Given the description of an element on the screen output the (x, y) to click on. 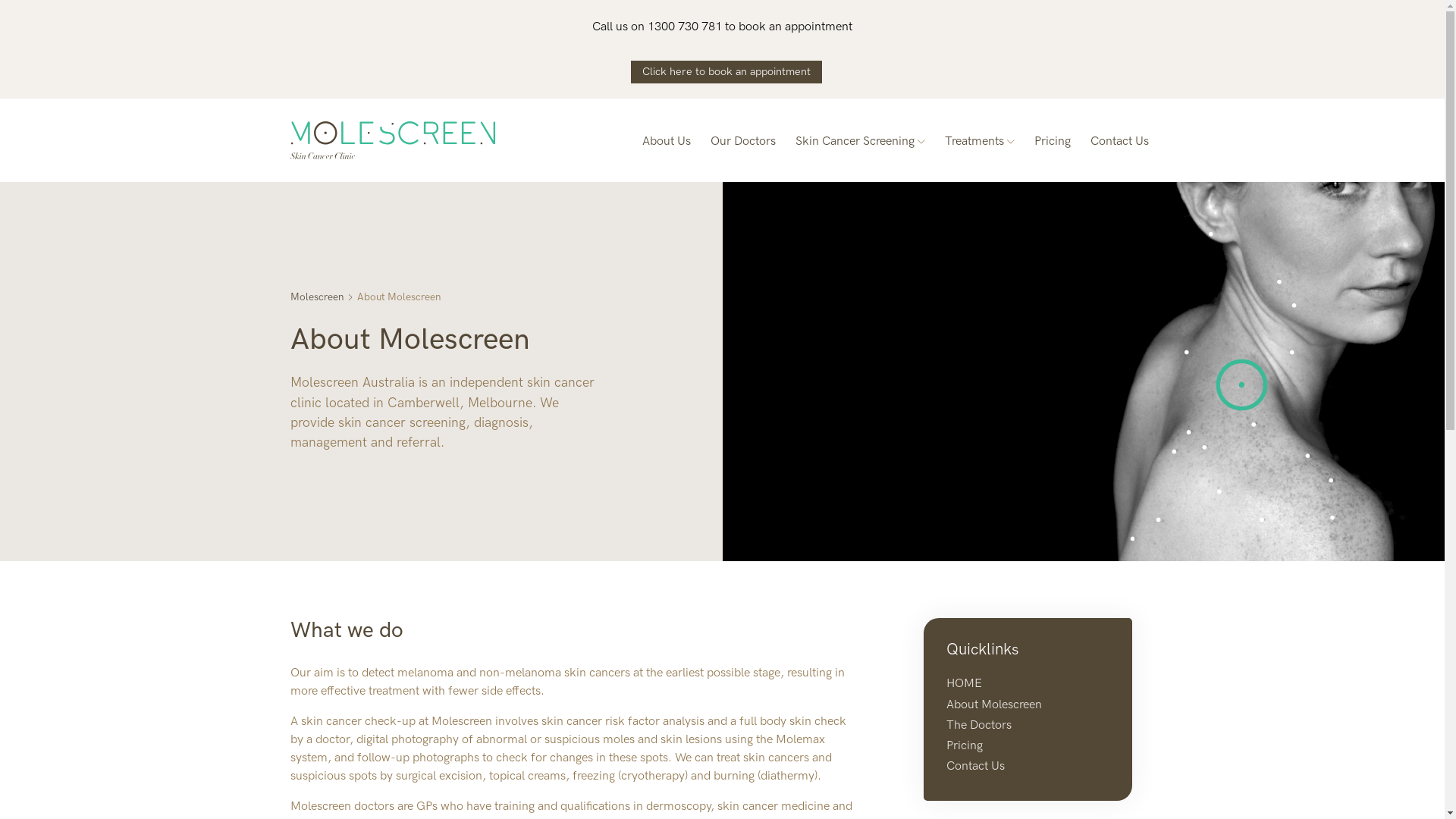
The Doctors Element type: text (978, 725)
Contact Us Element type: text (975, 766)
Molescreen Element type: text (322, 297)
Our Doctors Element type: text (742, 140)
About Us Element type: text (665, 140)
Pricing Element type: text (1052, 140)
Click here to book an appointment Element type: text (726, 71)
About Molescreen Element type: text (993, 704)
Pricing Element type: text (964, 745)
Contact Us Element type: text (1119, 140)
HOME Element type: text (964, 683)
Treatments Element type: text (979, 140)
Skin Cancer Screening Element type: text (859, 140)
